Given the description of an element on the screen output the (x, y) to click on. 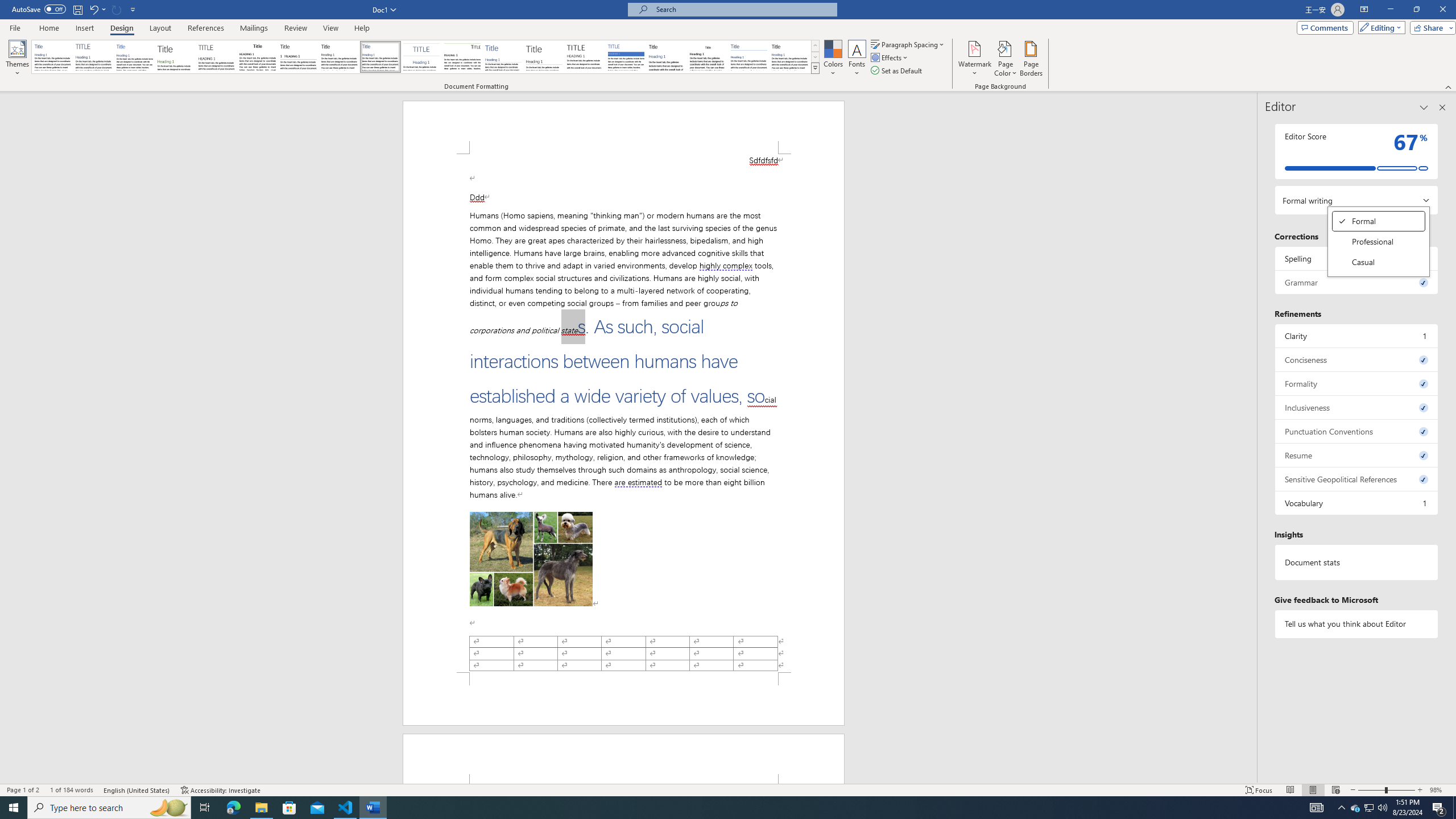
Tell us what you think about Editor (1356, 624)
Black & White (Capitalized) (216, 56)
Undo Outline Move Up (1378, 221)
Class: Net UI Tool Window (96, 9)
